Given the description of an element on the screen output the (x, y) to click on. 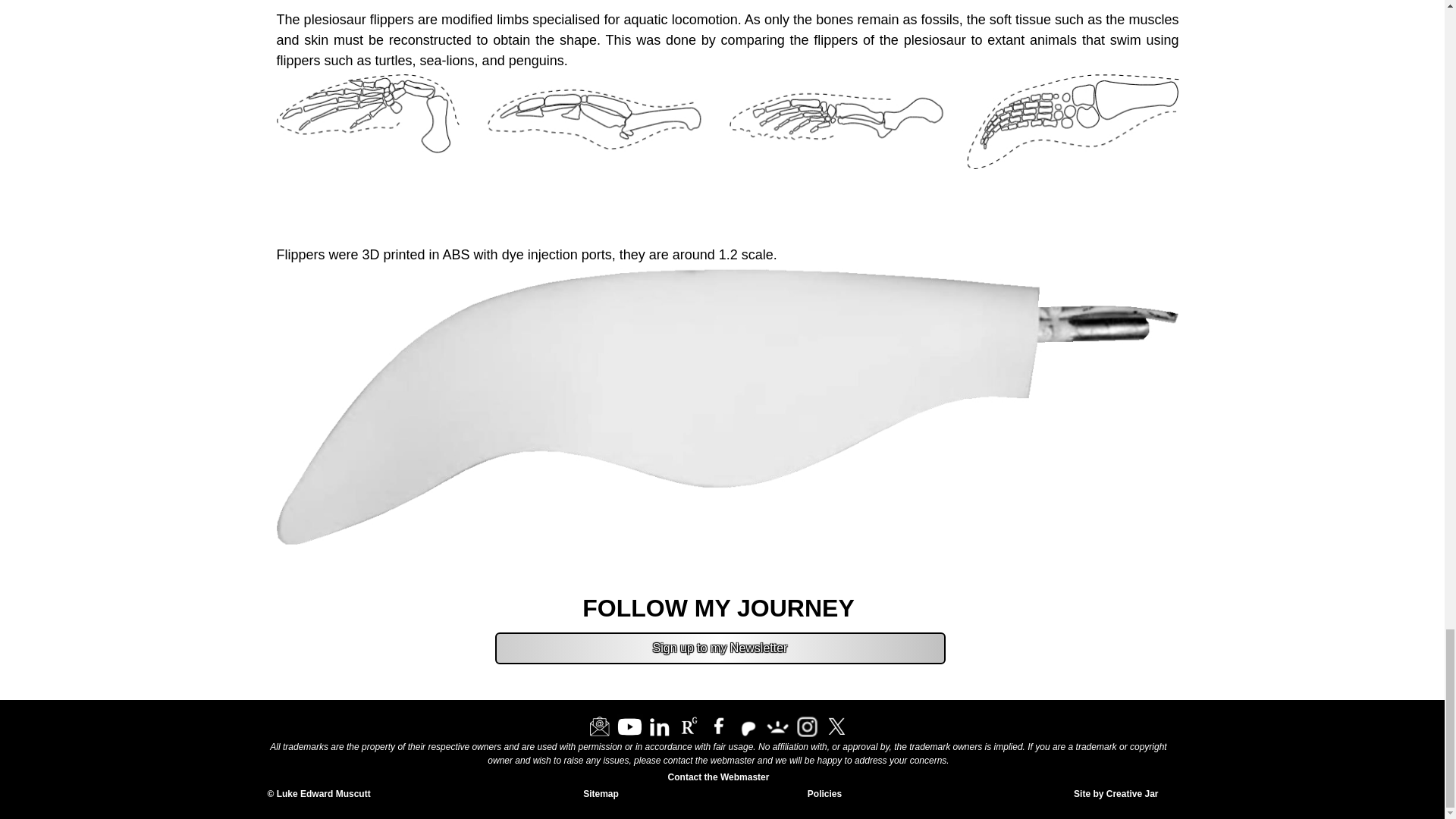
Site by Creative Jar (1048, 795)
Contact the Webmaster (718, 778)
Sitemap (601, 795)
Sign up to my Newsletter (719, 647)
Policies (824, 793)
